Given the description of an element on the screen output the (x, y) to click on. 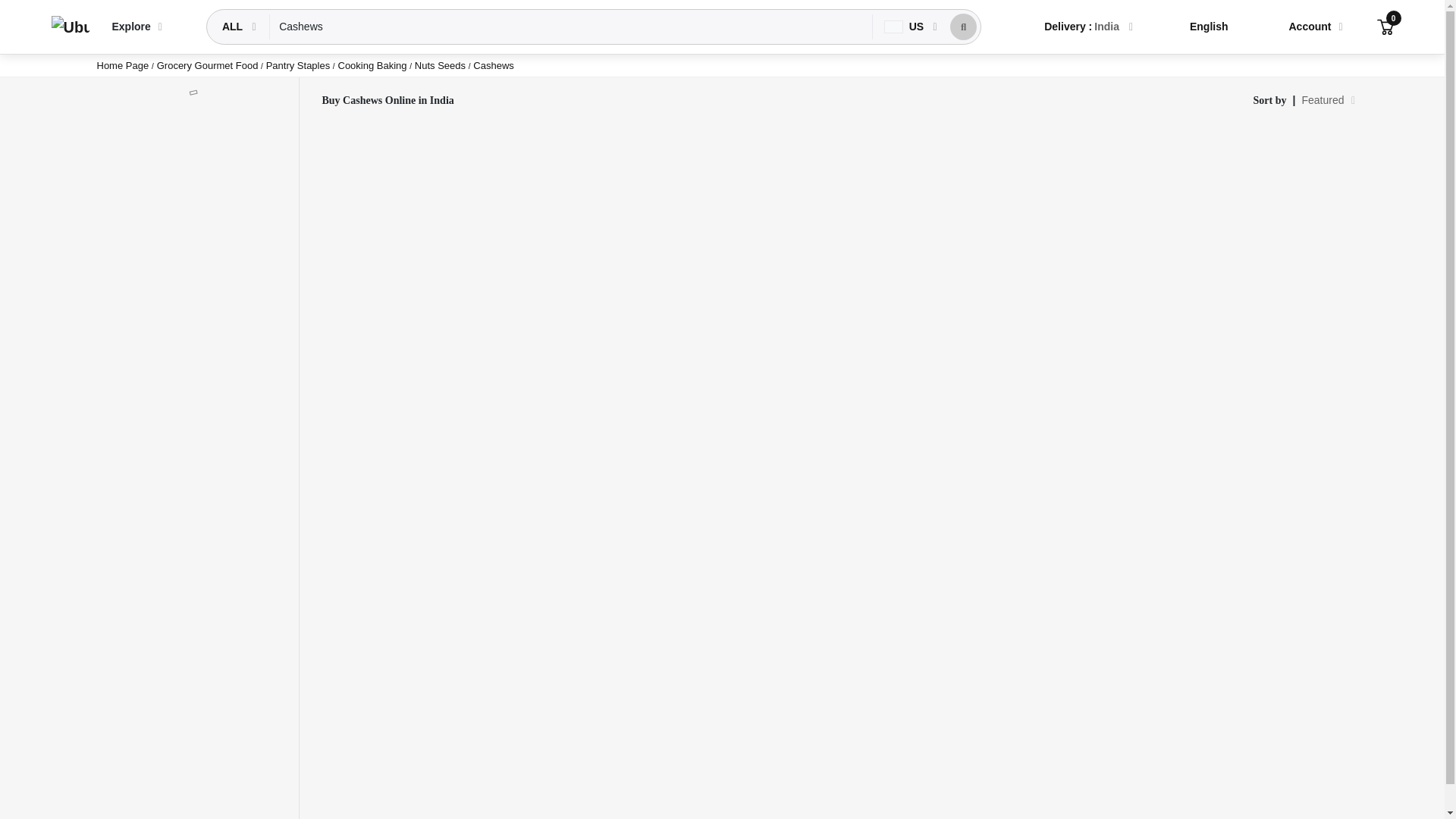
Ubuy (69, 27)
Cashews (570, 26)
0 (1385, 26)
US (905, 26)
ALL (234, 26)
